Given the description of an element on the screen output the (x, y) to click on. 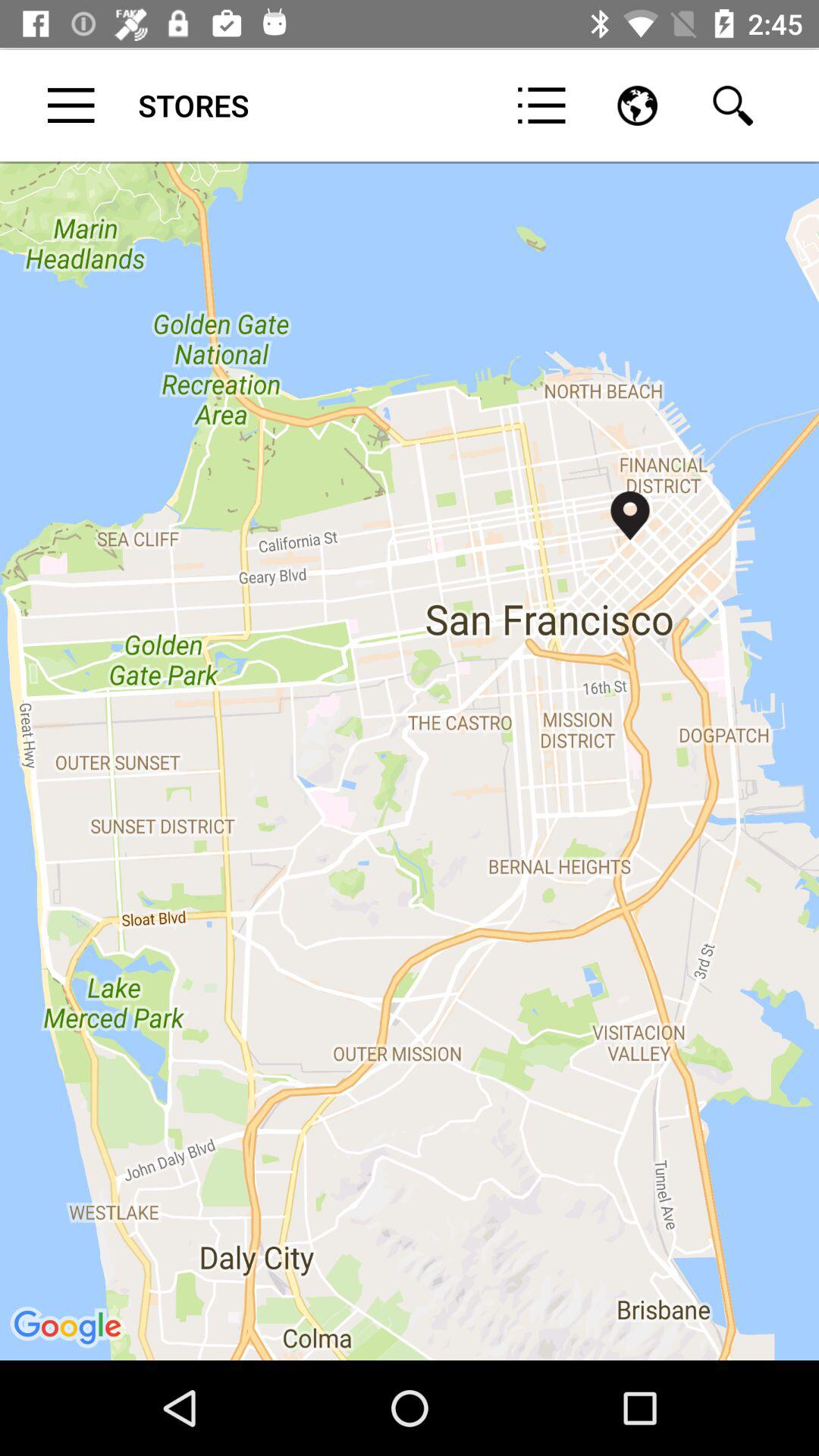
tap the icon next to the stores icon (541, 105)
